Given the description of an element on the screen output the (x, y) to click on. 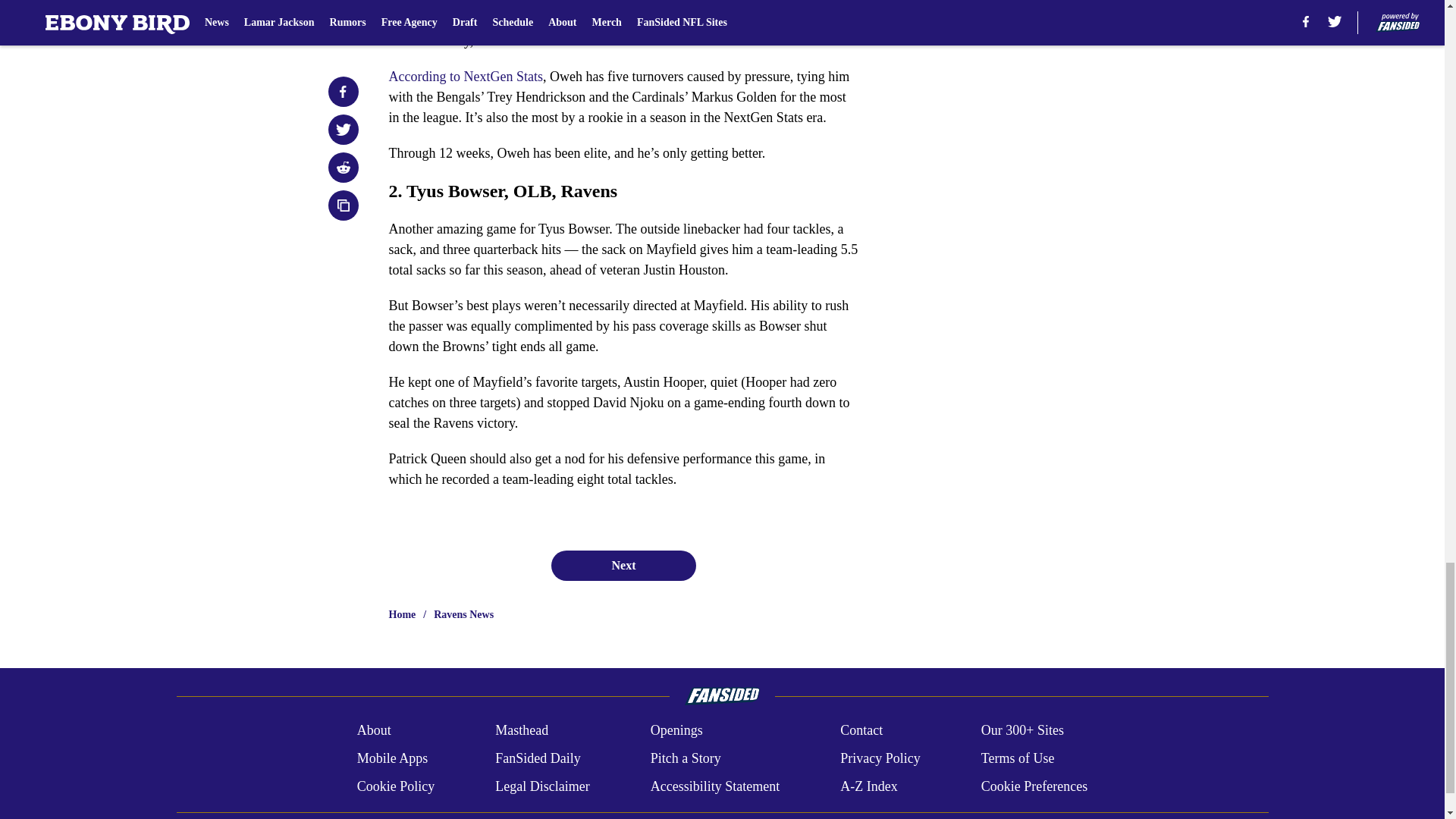
Pitch a Story (685, 758)
Contact (861, 730)
Masthead (521, 730)
FanSided Daily (537, 758)
Mobile Apps (392, 758)
Openings (676, 730)
Next (622, 565)
Privacy Policy (880, 758)
According to NextGen Stats (464, 76)
Home (401, 614)
Ravens News (463, 614)
About (373, 730)
